Given the description of an element on the screen output the (x, y) to click on. 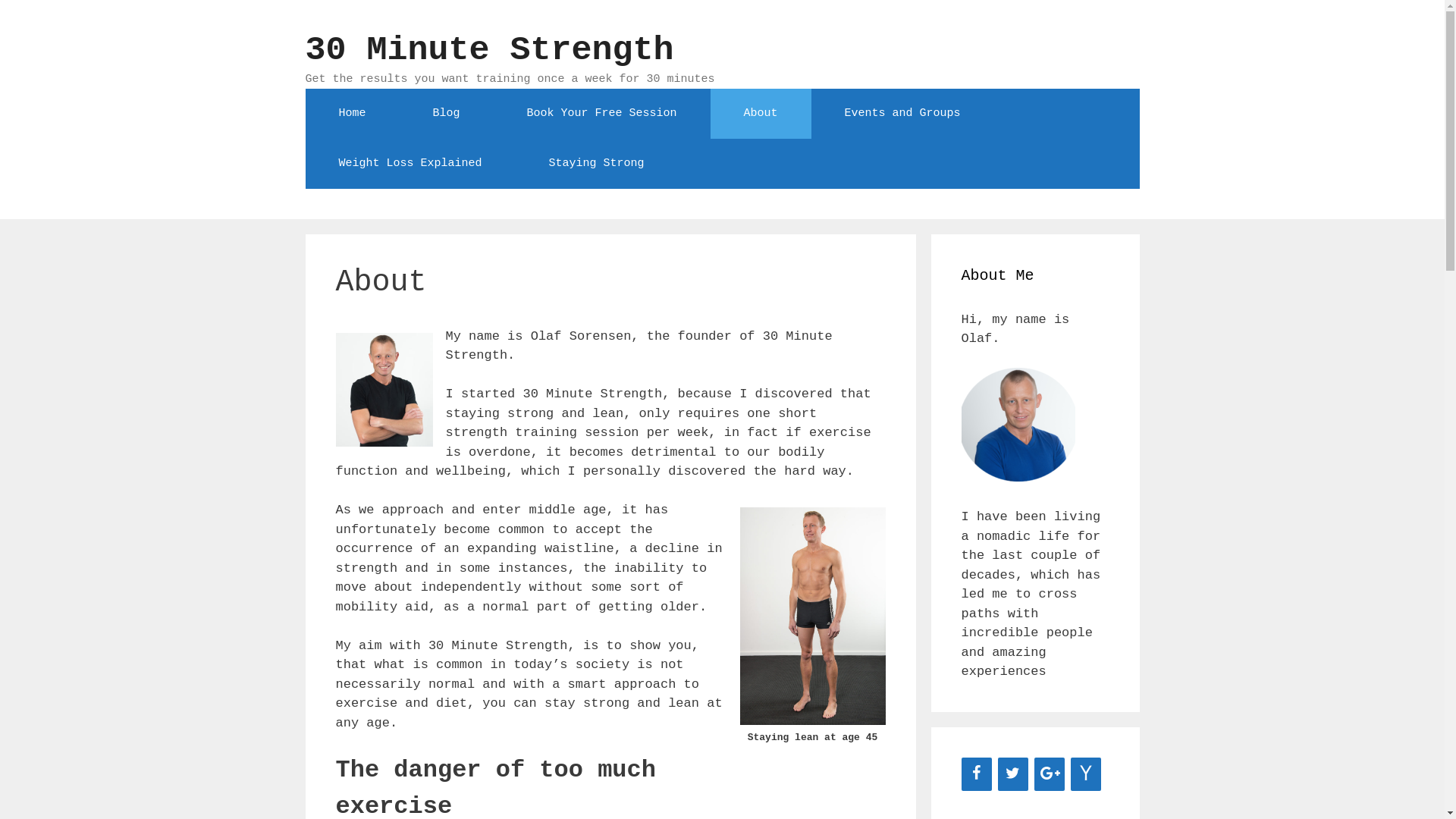
30 Minute Strength Element type: text (488, 50)
Facebook Element type: hover (976, 773)
Twitter Element type: hover (1012, 773)
Google+ Element type: hover (1049, 773)
Search Element type: text (39, 18)
Events and Groups Element type: text (902, 112)
Staying Strong Element type: text (596, 163)
About Element type: text (760, 112)
Blog Element type: text (446, 112)
Yahoo Element type: hover (1085, 773)
Book Your Free Session Element type: text (601, 112)
Home Element type: text (351, 112)
Weight Loss Explained Element type: text (409, 163)
